Given the description of an element on the screen output the (x, y) to click on. 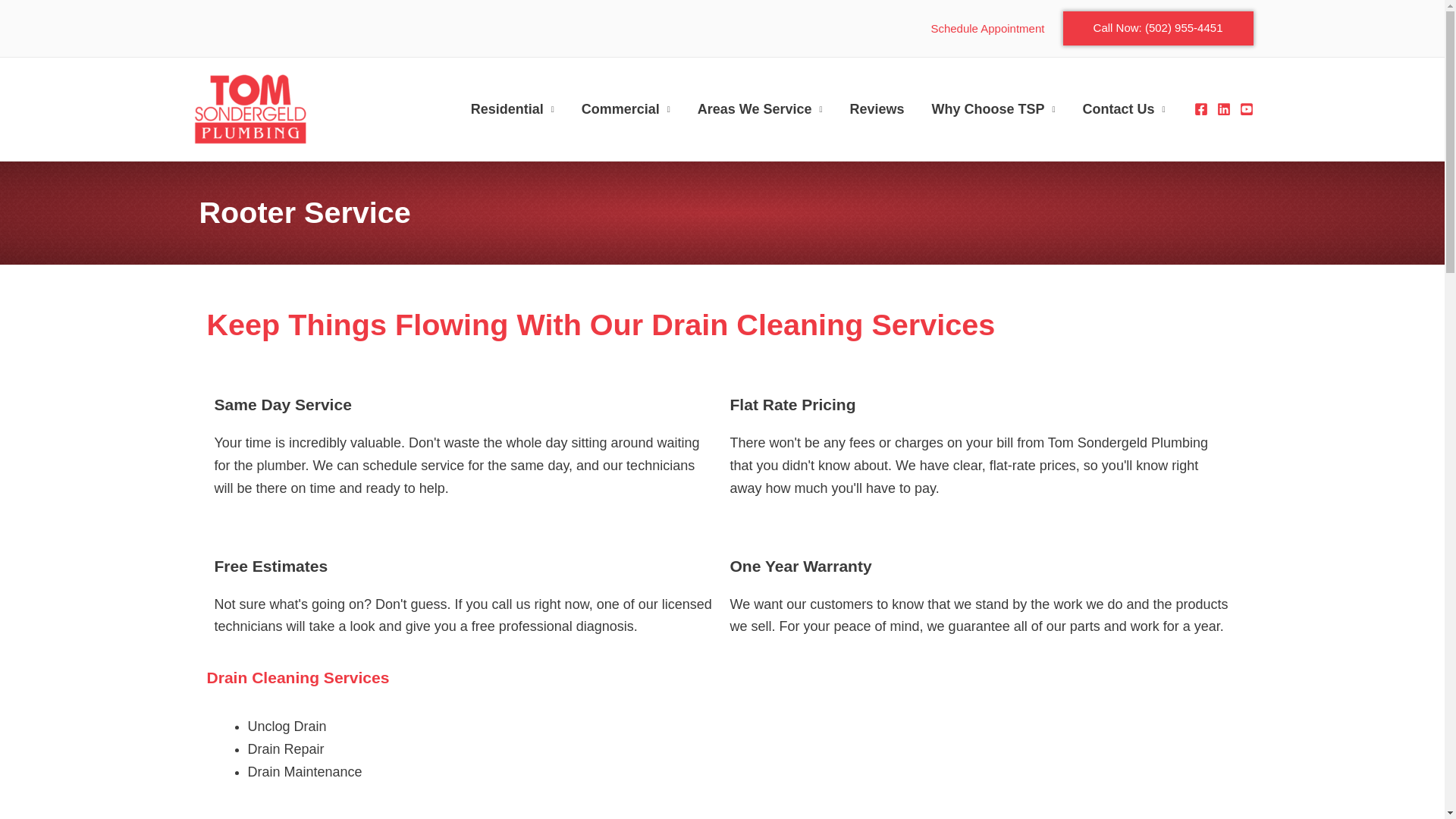
Commercial (625, 108)
Schedule Appointment  (988, 28)
Residential (512, 108)
